Given the description of an element on the screen output the (x, y) to click on. 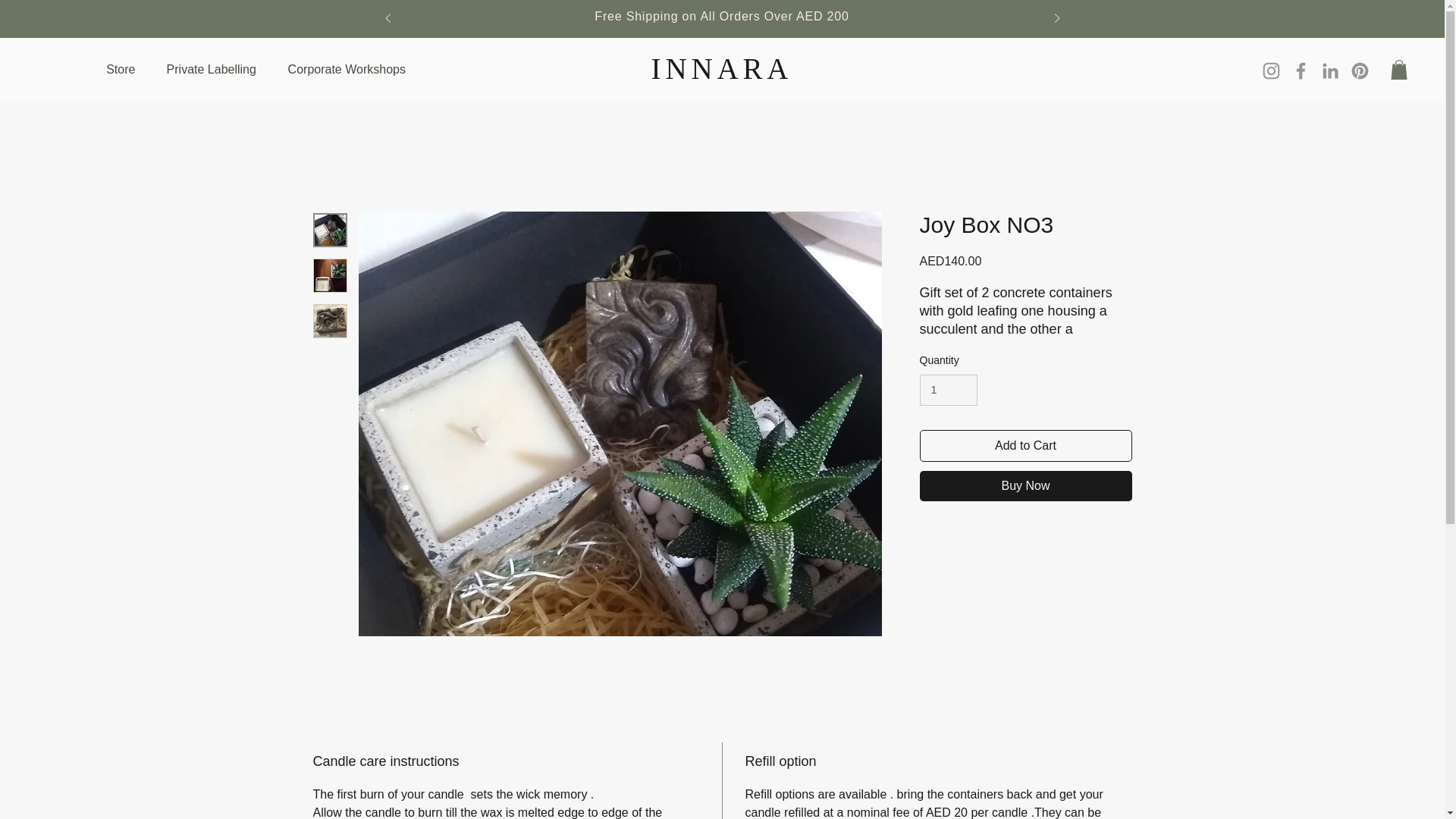
Corporate Workshops (346, 69)
1 (947, 389)
Buy Now (1024, 485)
Private Labelling (210, 69)
Add to Cart (1024, 445)
